Given the description of an element on the screen output the (x, y) to click on. 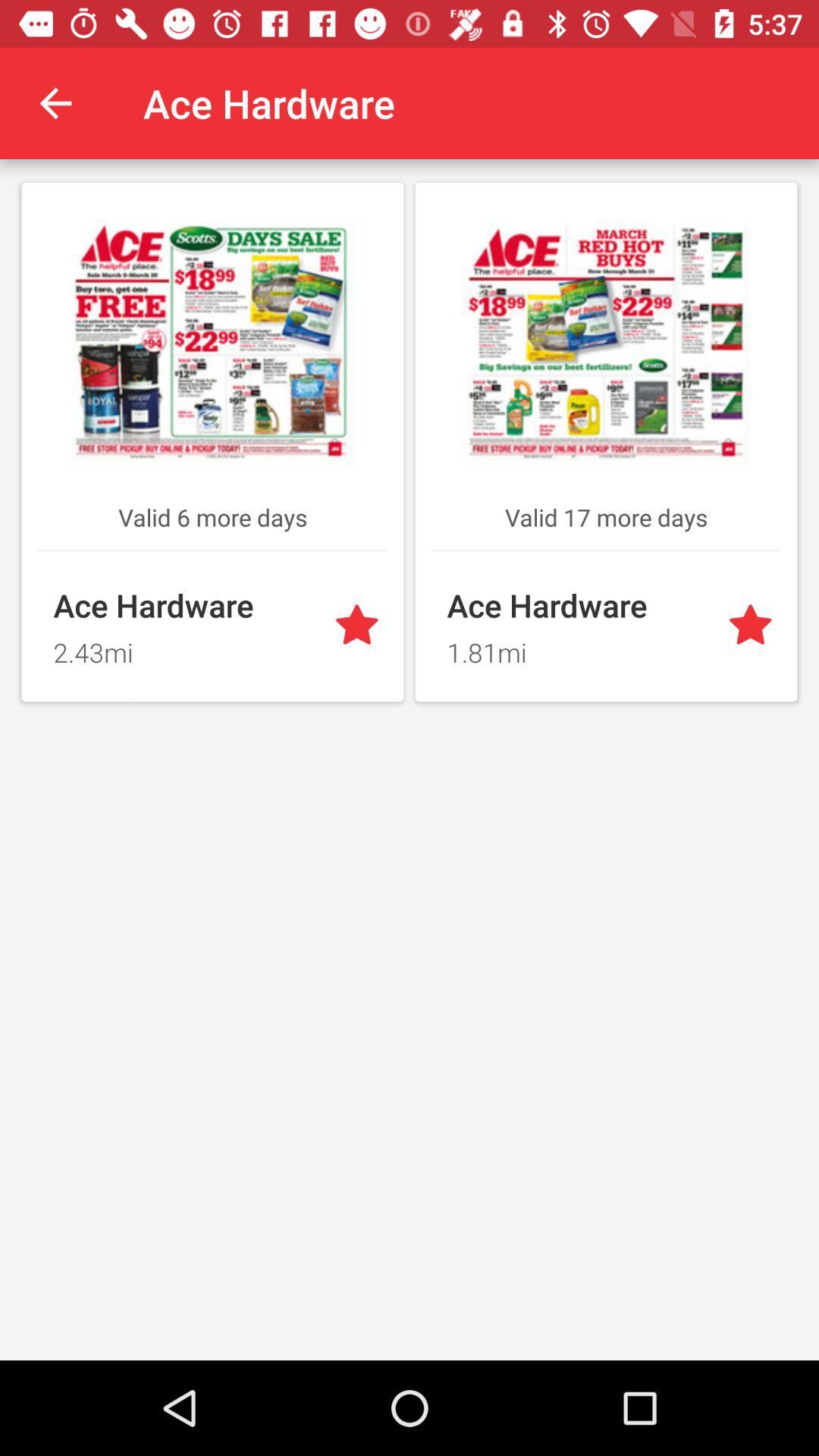
select the item below ace hardware icon (578, 647)
